Given the description of an element on the screen output the (x, y) to click on. 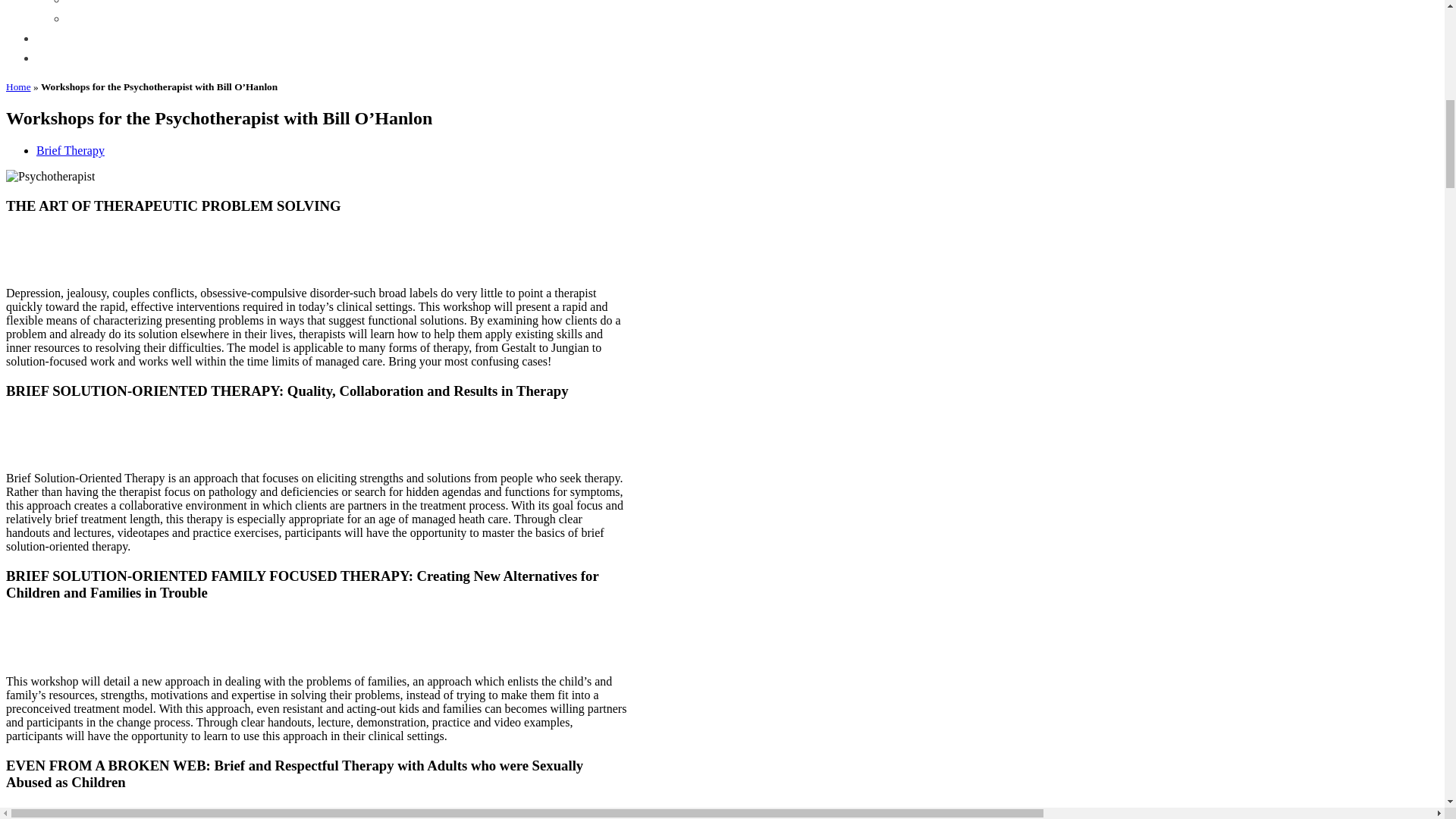
Health Professionals (86, 38)
Rehab Addicts (102, 2)
Brief Therapy (70, 150)
Home (17, 86)
Rehabilitation Center (118, 18)
Community Programs (90, 57)
